Given the description of an element on the screen output the (x, y) to click on. 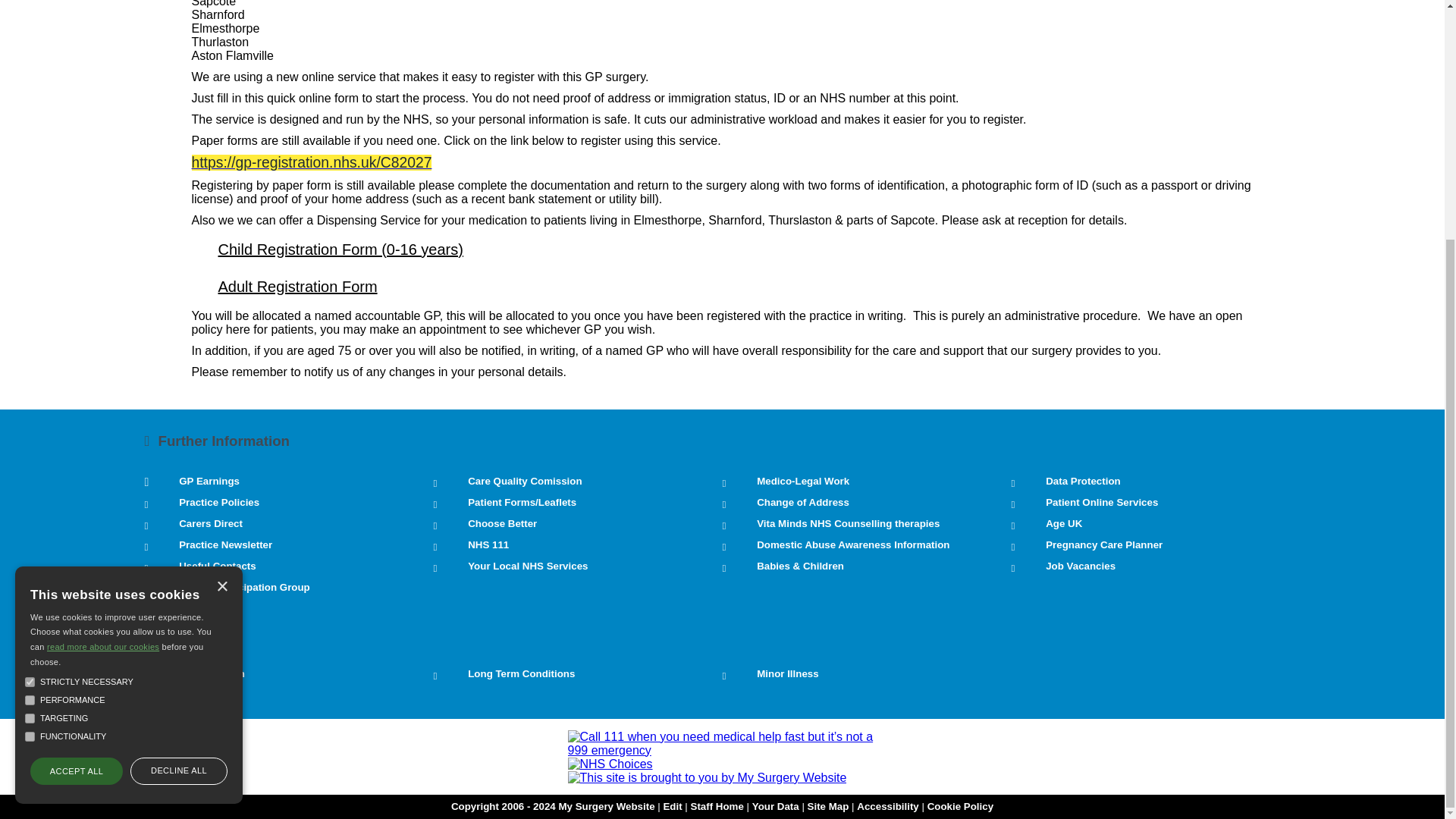
NHS Choices (609, 763)
functionality (29, 406)
Adult Registration Form (283, 287)
read more about our cookies (102, 316)
ACCEPT ALL (76, 441)
performance (29, 370)
strict (29, 352)
